Given the description of an element on the screen output the (x, y) to click on. 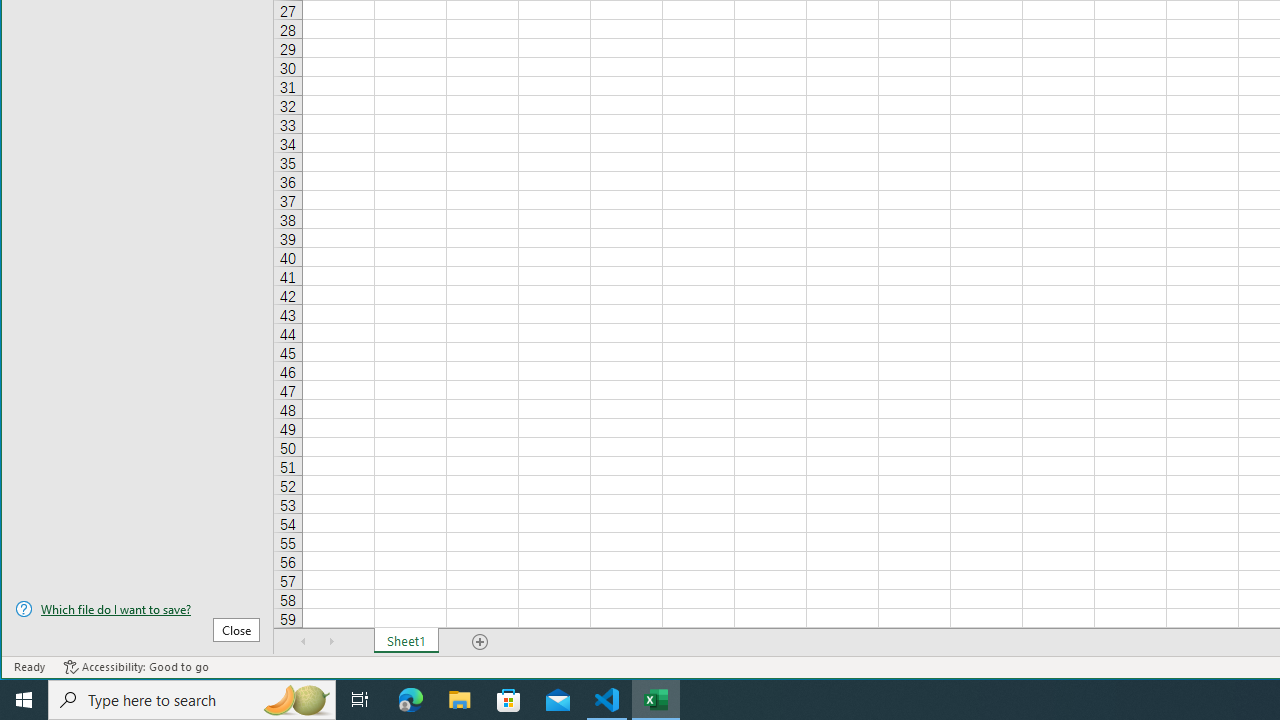
Task View (359, 699)
Visual Studio Code - 1 running window (607, 699)
Excel - 1 running window (656, 699)
Microsoft Store (509, 699)
Add Sheet (481, 641)
Accessibility Checker Accessibility: Good to go (136, 667)
Scroll Right (331, 641)
Microsoft Edge (411, 699)
File Explorer (460, 699)
Scroll Left (303, 641)
Close (235, 629)
Which file do I want to save? (137, 609)
Type here to search (191, 699)
Search highlights icon opens search home window (295, 699)
